Given the description of an element on the screen output the (x, y) to click on. 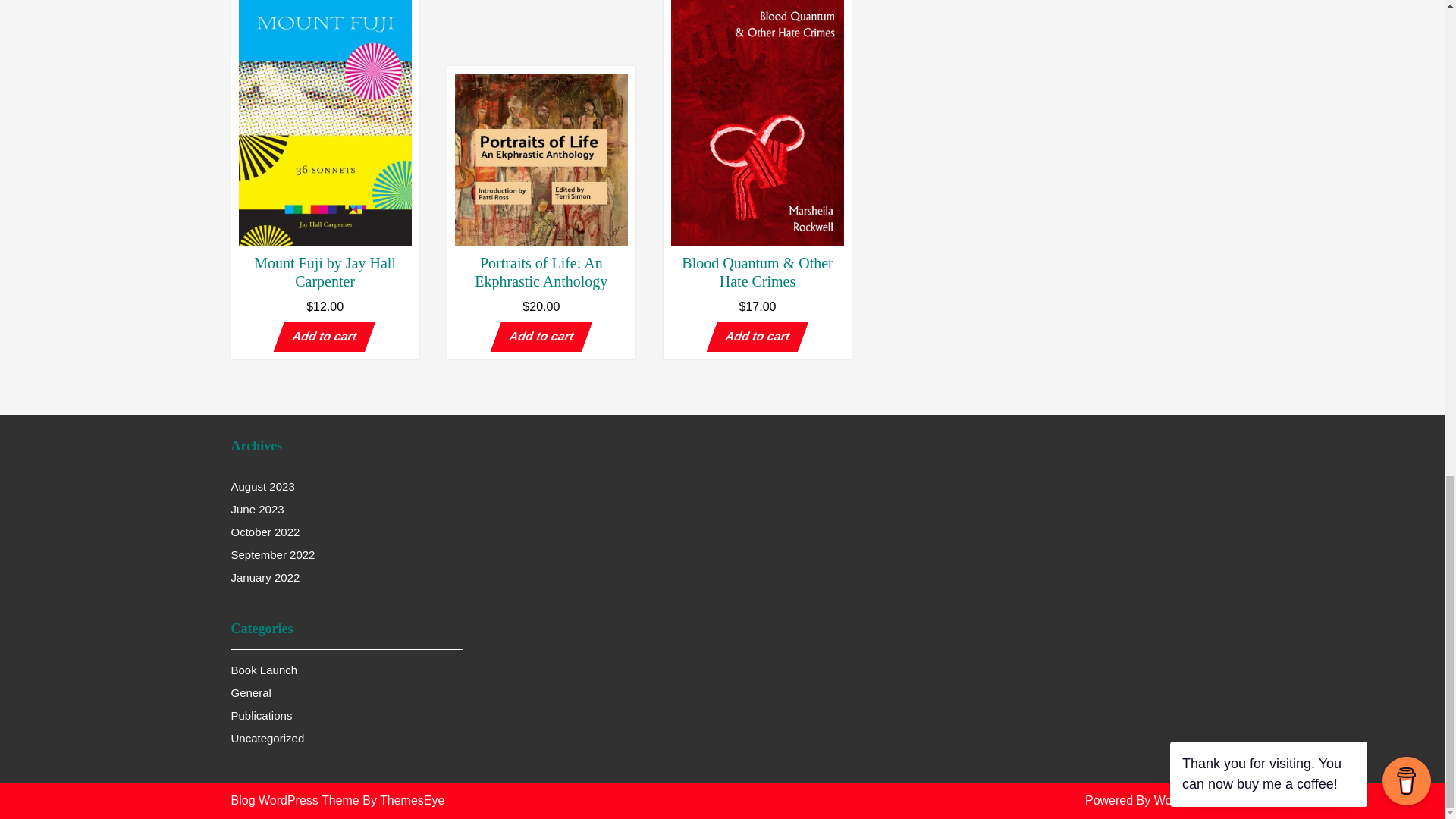
Add to cart (751, 336)
Add to cart (319, 336)
Add to cart (534, 336)
